Given the description of an element on the screen output the (x, y) to click on. 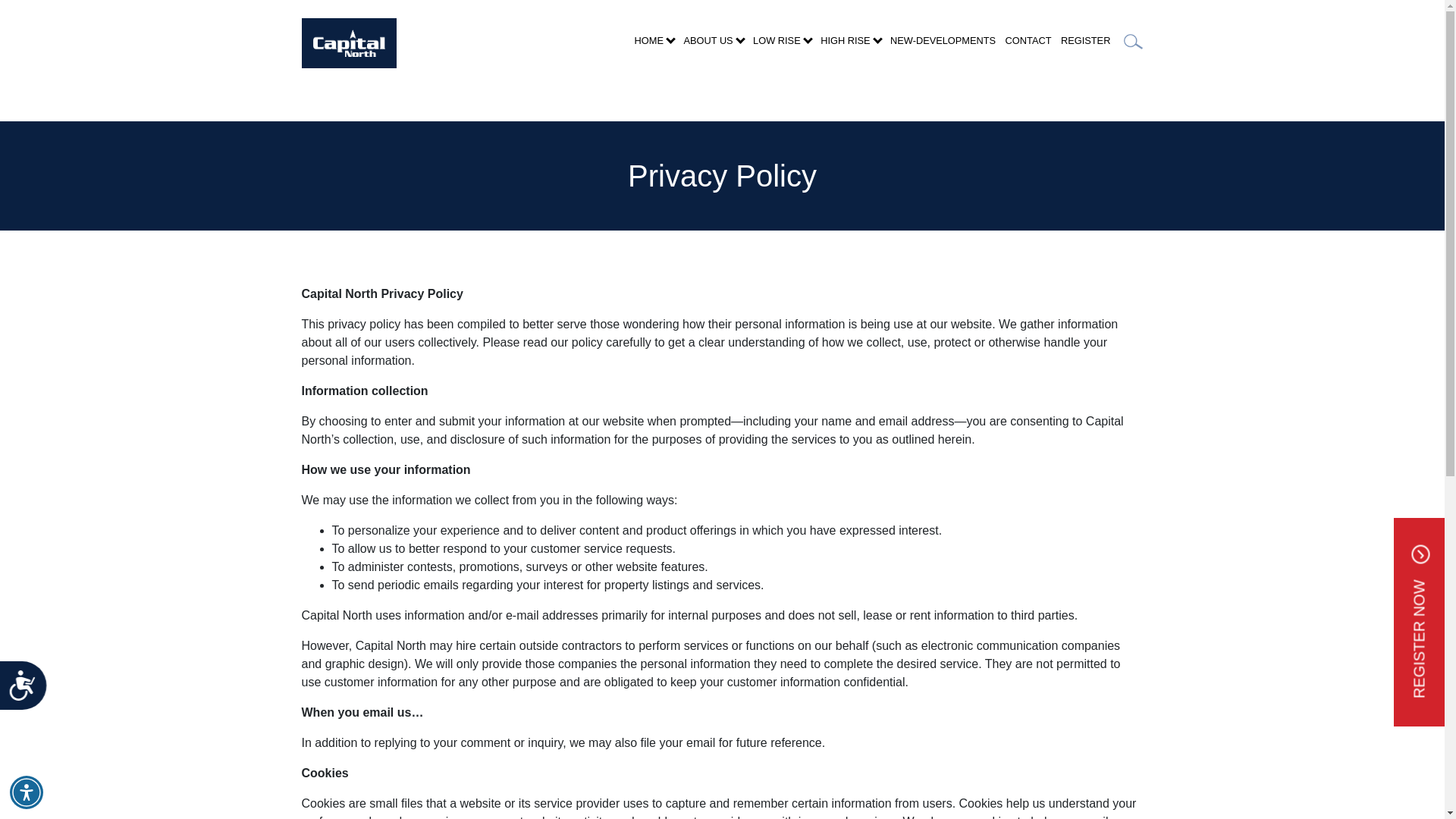
REGISTER (1085, 40)
Accessibility Menu (26, 792)
LOW RISE (781, 46)
NEW-DEVELOPMENTS (942, 40)
HIGH RISE (849, 46)
Accessibility (29, 690)
CONTACT (1028, 40)
HOME (654, 46)
ABOUT US (712, 46)
